Given the description of an element on the screen output the (x, y) to click on. 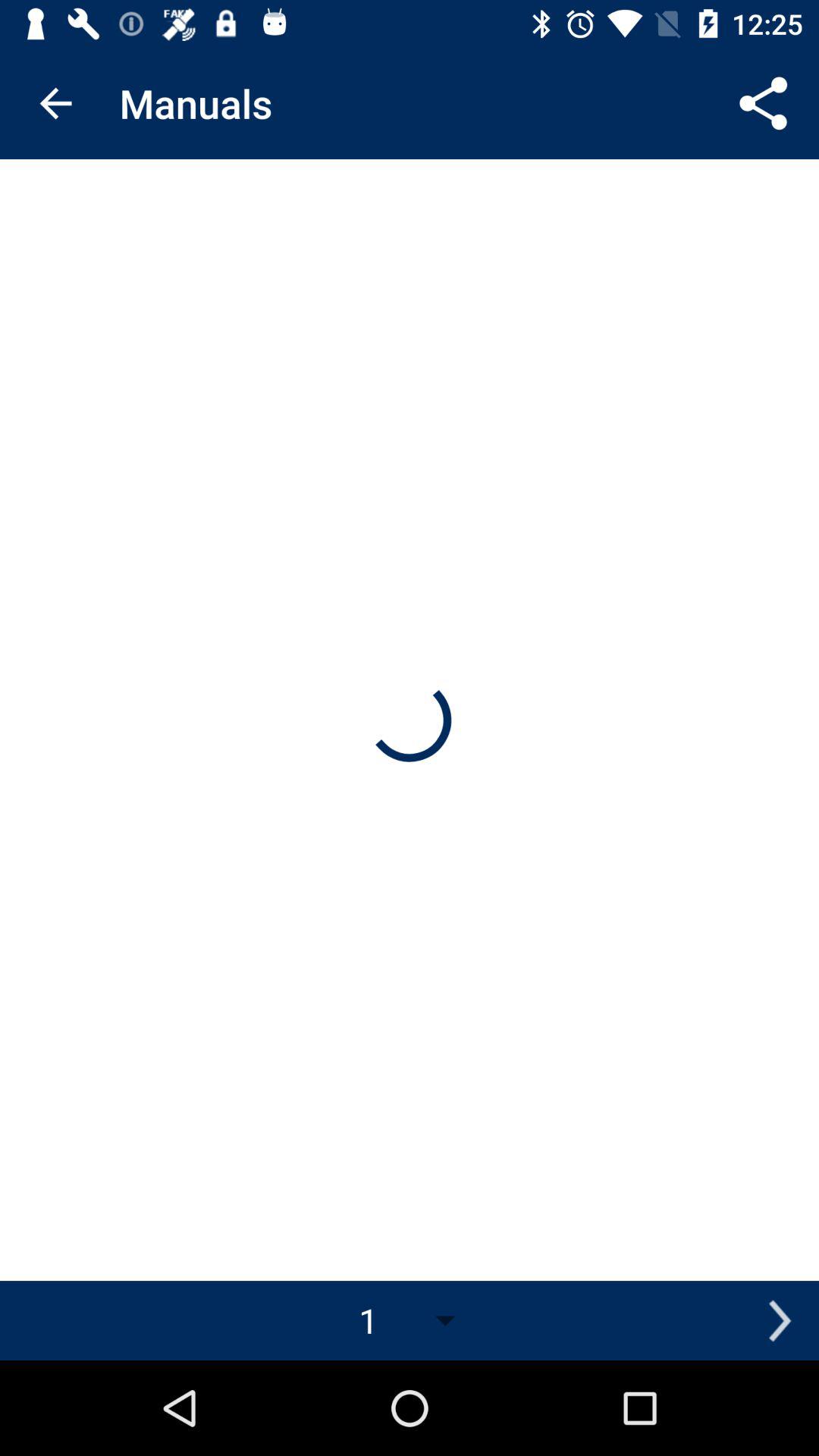
open the item next to the   1 icon (779, 1320)
